Given the description of an element on the screen output the (x, y) to click on. 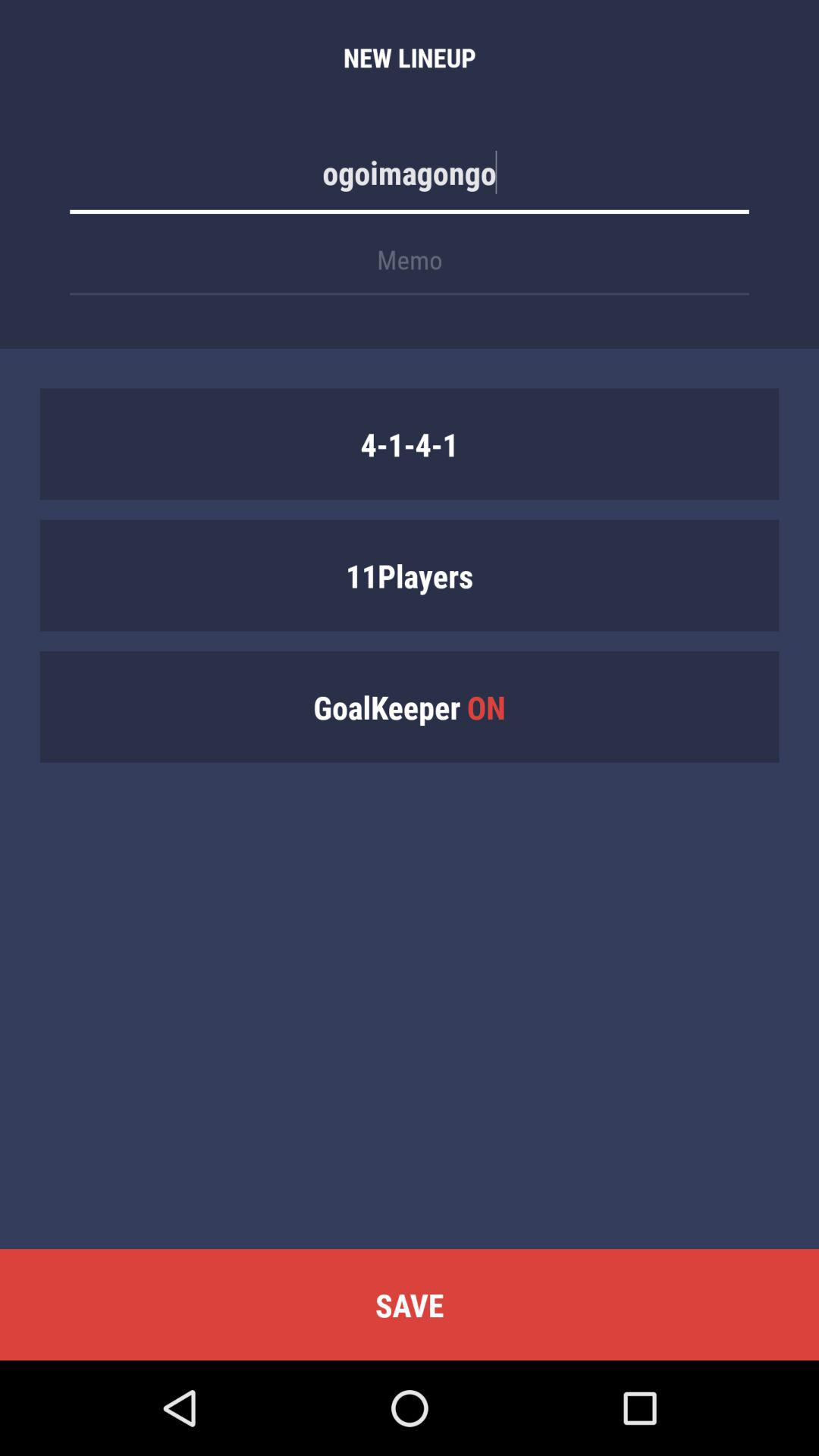
turn off ogoimagongo icon (409, 179)
